Given the description of an element on the screen output the (x, y) to click on. 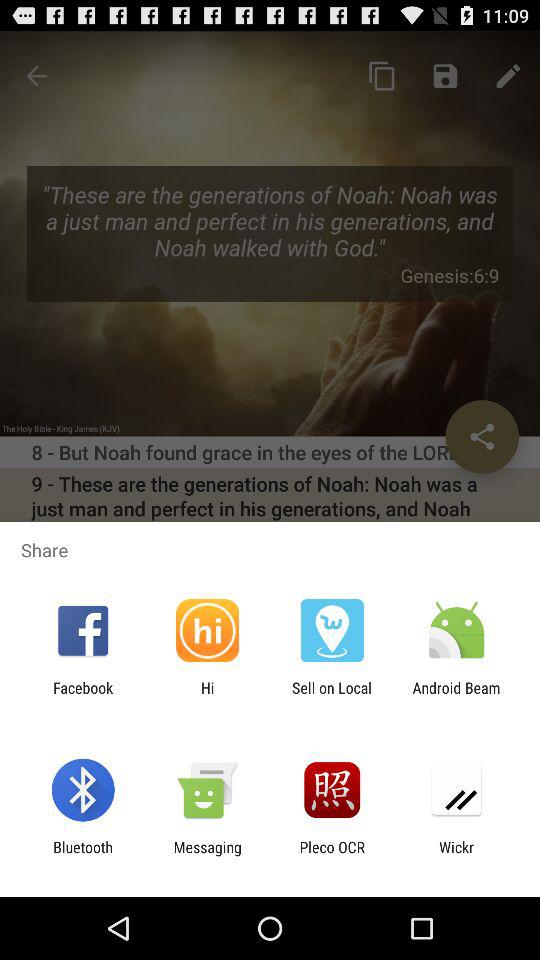
click the wickr icon (456, 856)
